Given the description of an element on the screen output the (x, y) to click on. 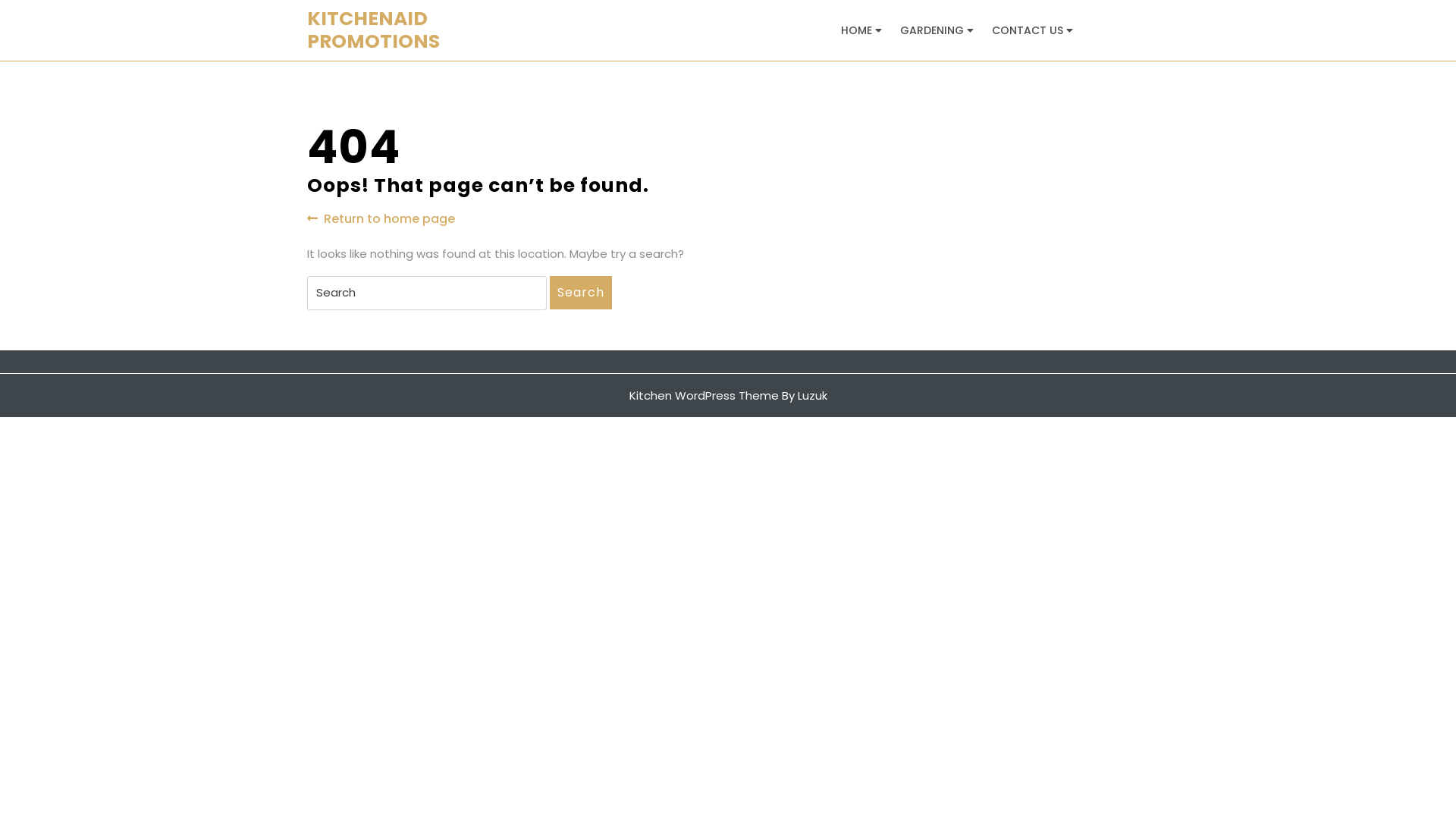
Kitchen WordPress Theme Element type: text (703, 394)
KITCHENAID PROMOTIONS Element type: text (373, 29)
Return to home page
Return to home page Element type: text (381, 218)
GARDENING Element type: text (932, 30)
HOME Element type: text (857, 30)
Search Element type: text (580, 292)
CONTACT US Element type: text (1028, 30)
